Given the description of an element on the screen output the (x, y) to click on. 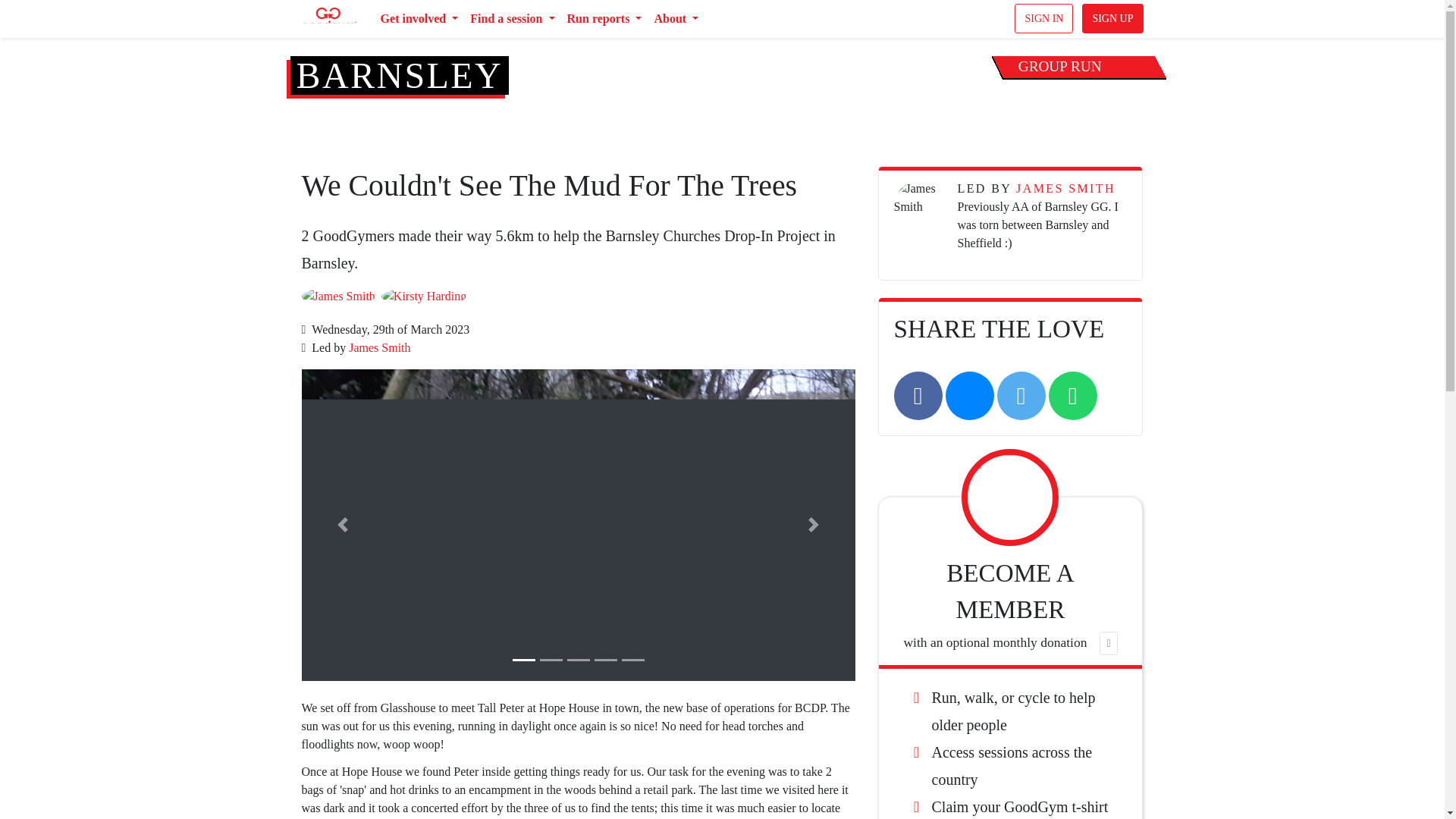
BARNSLEY (398, 75)
Get involved (419, 19)
James Smith (379, 347)
Run reports (603, 19)
Find a session (512, 19)
SIGN IN (1043, 18)
SIGN UP (1111, 18)
Messenger (968, 395)
About (675, 19)
